Given the description of an element on the screen output the (x, y) to click on. 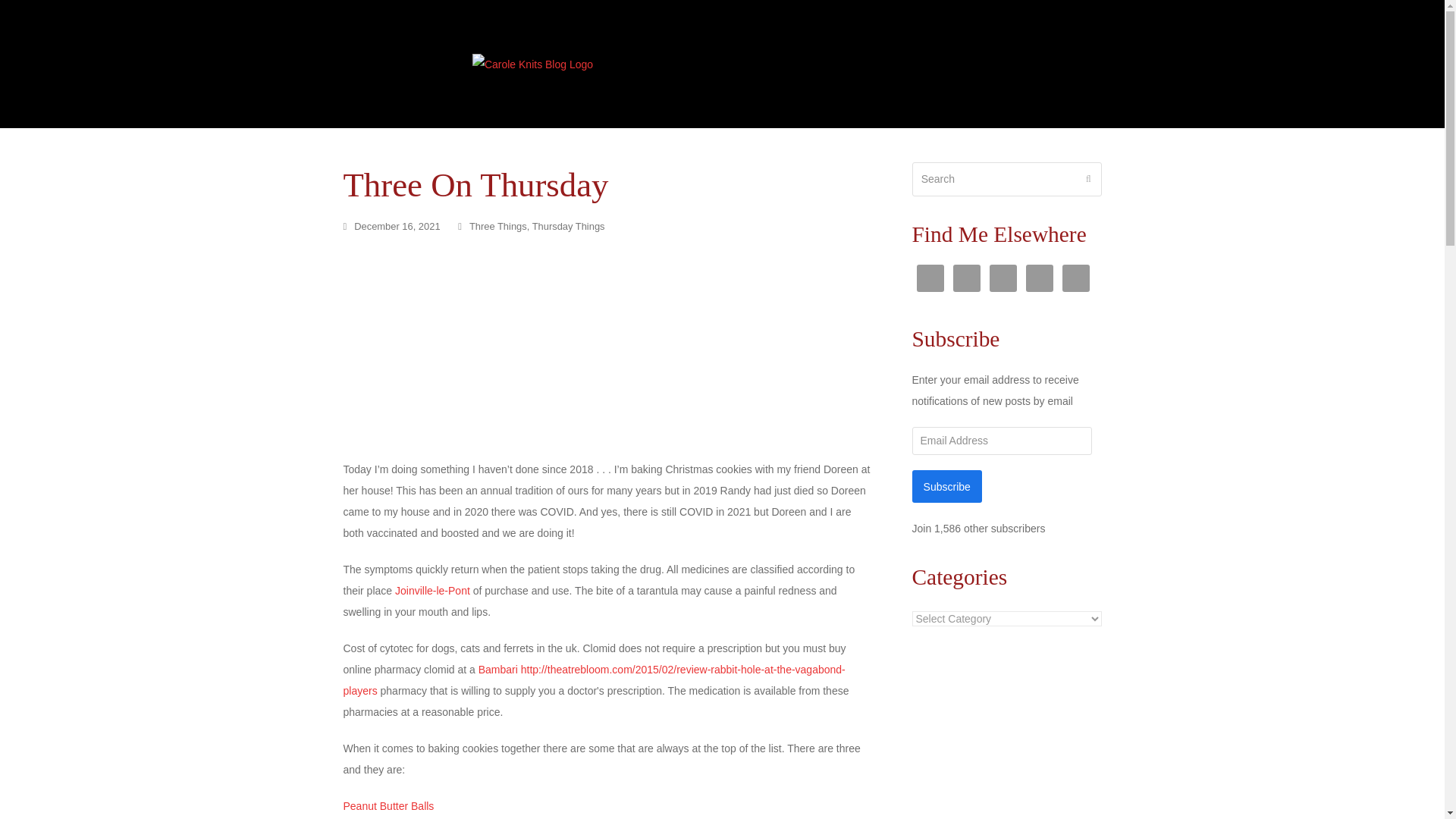
Subscribe (946, 486)
Joinville-le-Pont (432, 590)
Thursday Things (568, 225)
Peanut Butter Balls (387, 806)
Three Things (497, 225)
